Given the description of an element on the screen output the (x, y) to click on. 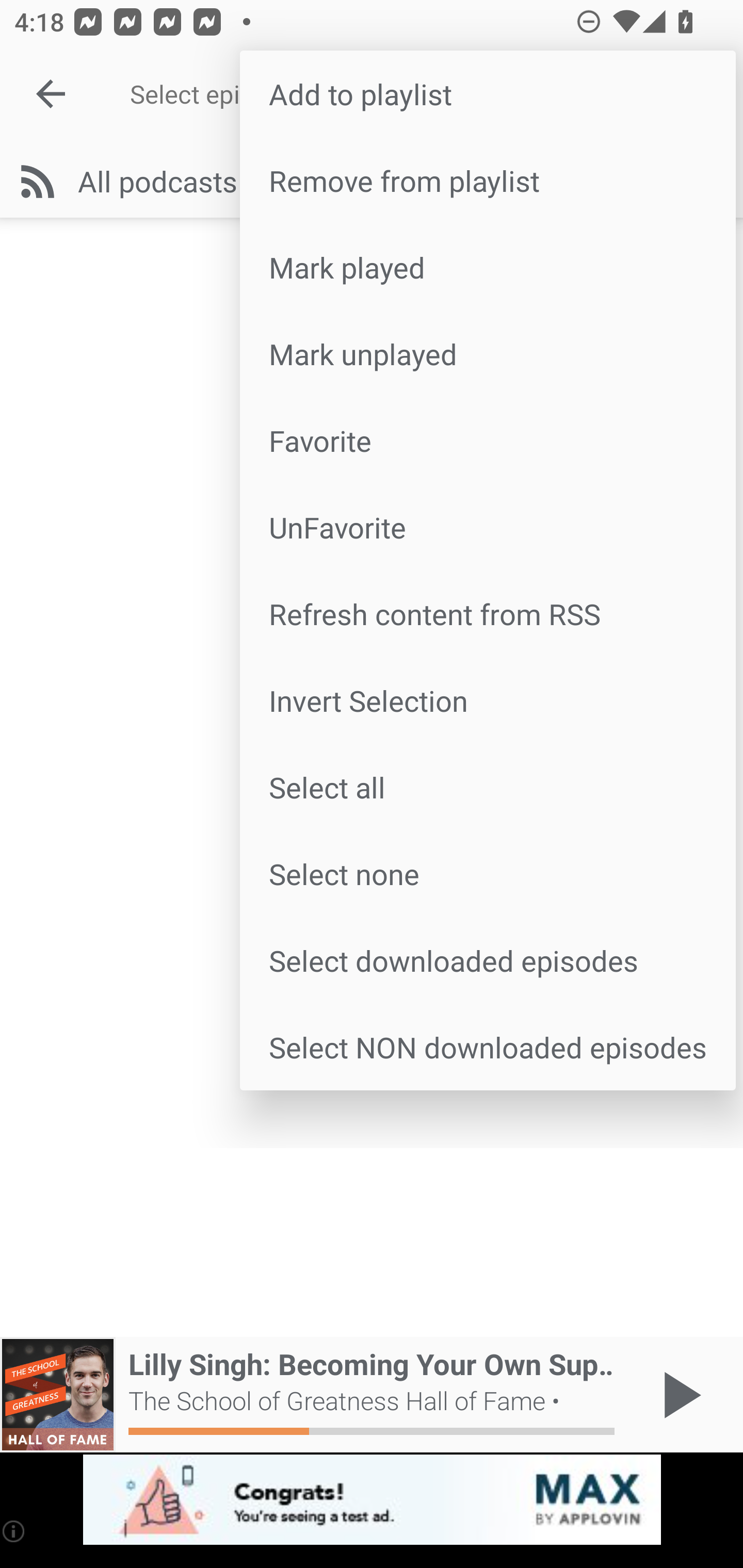
Add to playlist (487, 93)
Remove from playlist (487, 180)
Mark played (487, 267)
Mark unplayed (487, 353)
Favorite (487, 440)
UnFavorite (487, 527)
Refresh content from RSS (487, 613)
Invert Selection (487, 699)
Select all (487, 787)
Select none (487, 874)
Select downloaded episodes (487, 960)
Select NON downloaded episodes (487, 1046)
